Given the description of an element on the screen output the (x, y) to click on. 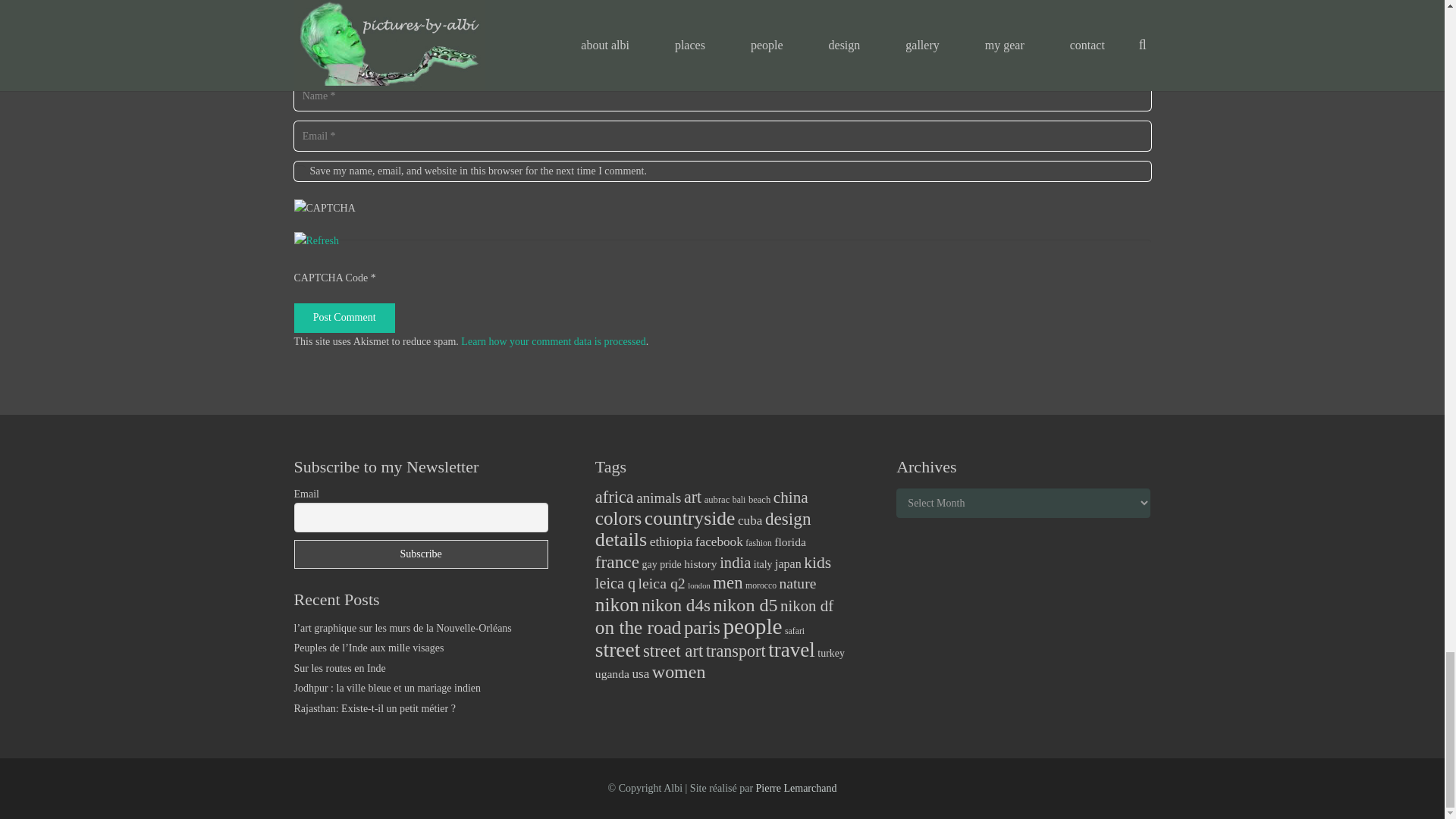
Subscribe (421, 553)
Refresh (316, 240)
CAPTCHA (344, 215)
1 (299, 171)
